Given the description of an element on the screen output the (x, y) to click on. 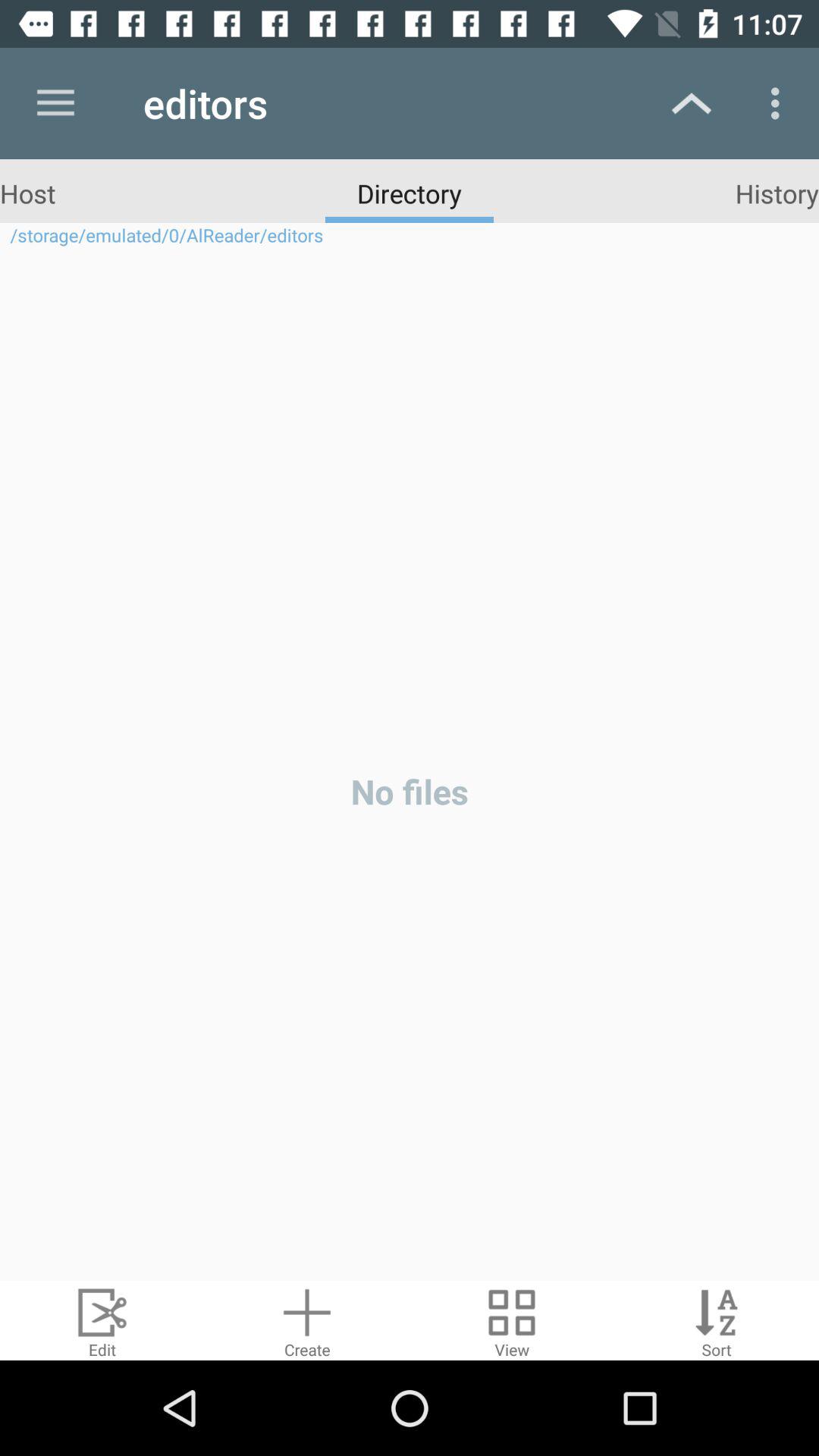
turn on the history item (777, 193)
